Given the description of an element on the screen output the (x, y) to click on. 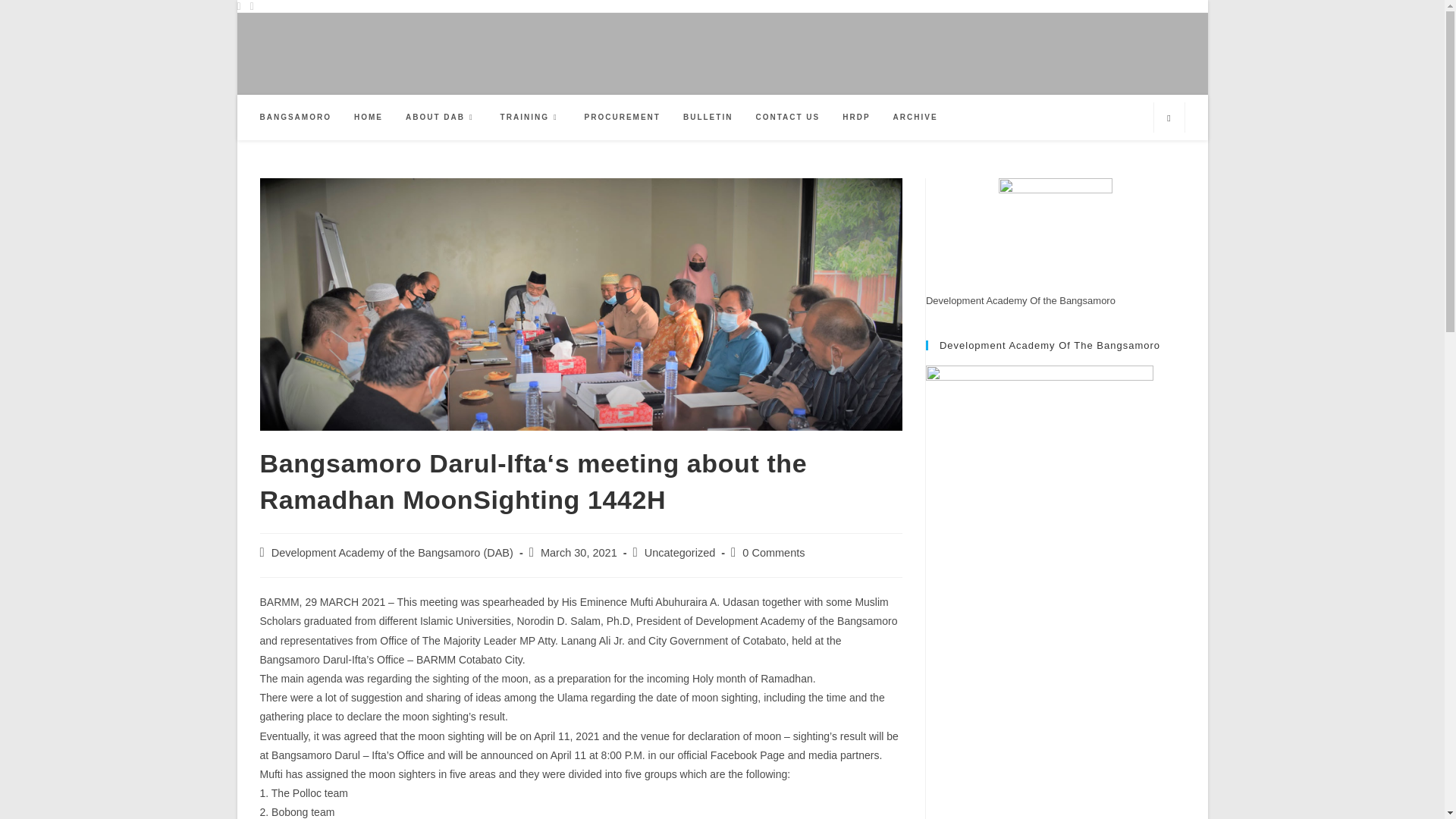
BANGSAMORO (295, 117)
HRDP (855, 117)
PROCUREMENT (622, 117)
Development Academy of The Bangsamoro (1039, 478)
ARCHIVE (915, 117)
TRAINING (531, 117)
BULLETIN (707, 117)
HOME (368, 117)
ABOUT DAB (441, 117)
CONTACT US (787, 117)
